Given the description of an element on the screen output the (x, y) to click on. 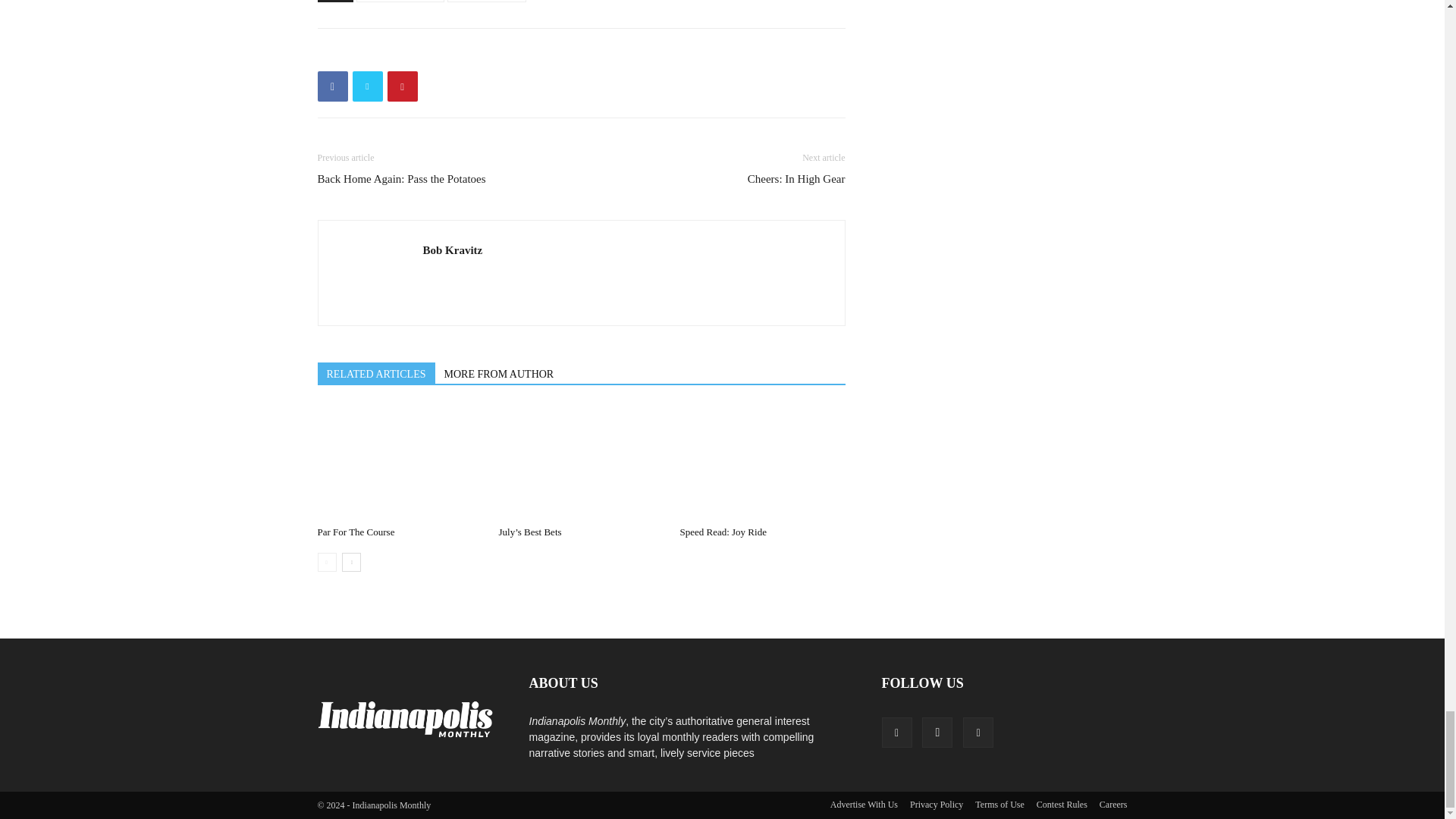
Par For The Course (355, 531)
Par For The Course (399, 462)
Speed Read: Joy Ride (761, 462)
